Given the description of an element on the screen output the (x, y) to click on. 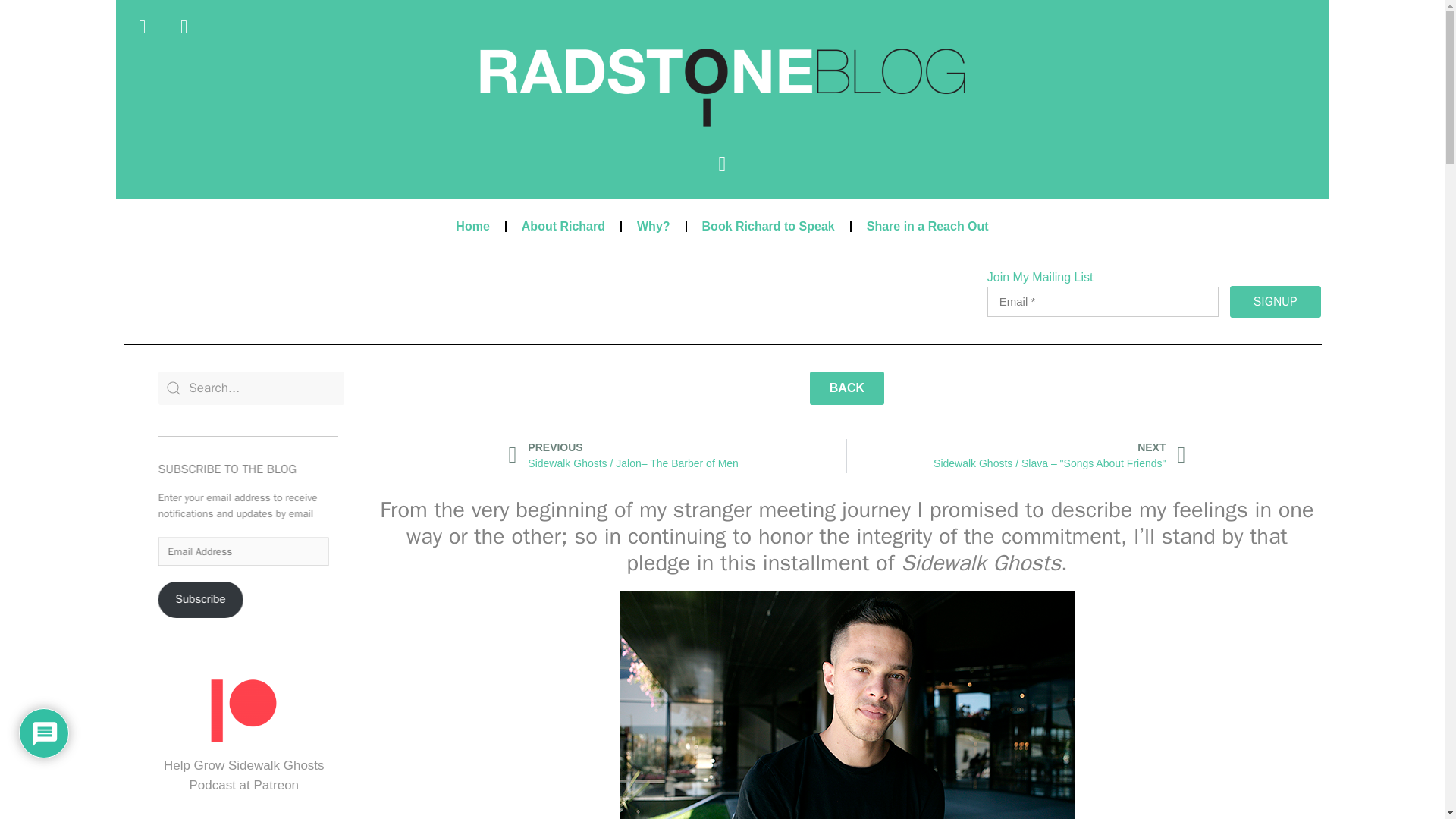
Subscribe (211, 603)
Book Richard to Speak (768, 226)
Search (250, 387)
BACK (846, 387)
Home (472, 226)
Why? (653, 226)
SIGNUP (1275, 301)
Share in a Reach Out (927, 226)
About Richard (563, 226)
RadstoneBlog005 (721, 87)
